Given the description of an element on the screen output the (x, y) to click on. 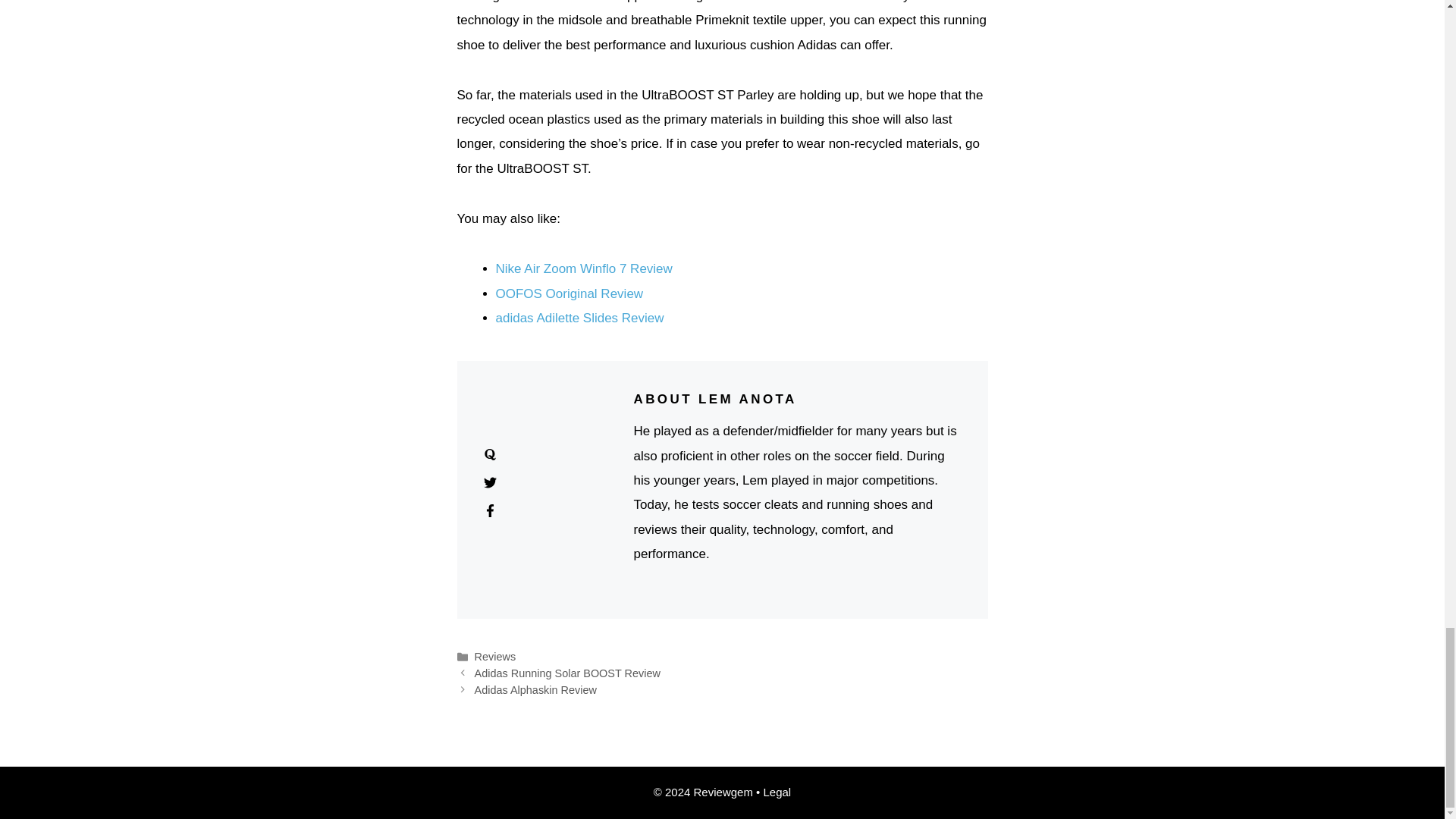
Reviews (495, 656)
OOFOS Ooriginal Review (569, 293)
Legal (776, 791)
Nike Air Zoom Winflo 7 Review (584, 268)
Adidas Alphaskin Review (535, 689)
Adidas Running Solar BOOST Review (567, 673)
adidas Adilette Slides Review (579, 318)
